Given the description of an element on the screen output the (x, y) to click on. 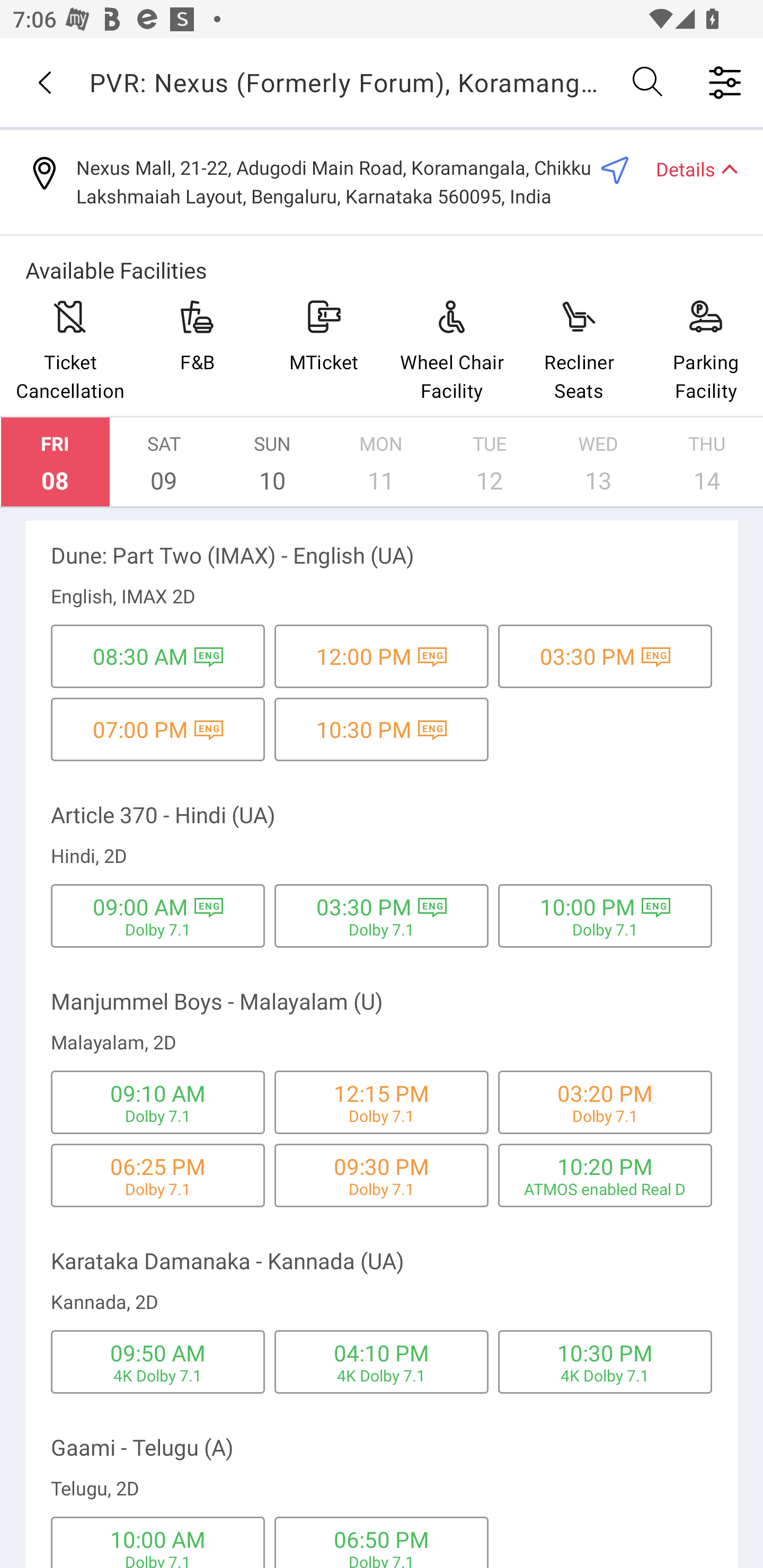
Navigate up (44, 82)
Search (648, 81)
Filter (724, 81)
Details (688, 168)
SAT 09 MAR (163, 461)
SUN 10 MAR (272, 461)
MON 11 MAR (380, 461)
TUE 12 MAR (489, 461)
WED 13 MAR (598, 461)
THU 14 MAR (707, 461)
08:30 AM (140, 656)
12:00 PM (364, 656)
03:30 PM (587, 656)
07:00 PM (140, 728)
10:30 PM (364, 728)
09:00 AM (140, 906)
03:30 PM (364, 906)
10:00 PM (587, 906)
Dolby 7.1 (157, 929)
Dolby 7.1 (381, 929)
Dolby 7.1 (604, 929)
09:10 AM (157, 1093)
12:15 PM (381, 1093)
03:20 PM (605, 1093)
Dolby 7.1 (157, 1116)
Dolby 7.1 (381, 1116)
Dolby 7.1 (604, 1116)
06:25 PM (157, 1165)
09:30 PM (381, 1165)
10:20 PM (605, 1165)
Dolby 7.1 (157, 1188)
Dolby 7.1 (381, 1188)
ATMOS enabled Real D (604, 1188)
09:50 AM (157, 1352)
04:10 PM (381, 1352)
10:30 PM (605, 1352)
4K Dolby 7.1 (157, 1375)
4K Dolby 7.1 (381, 1375)
4K Dolby 7.1 (604, 1375)
10:00 AM (157, 1538)
06:50 PM (381, 1538)
Dolby 7.1 (157, 1559)
Dolby 7.1 (381, 1559)
